Given the description of an element on the screen output the (x, y) to click on. 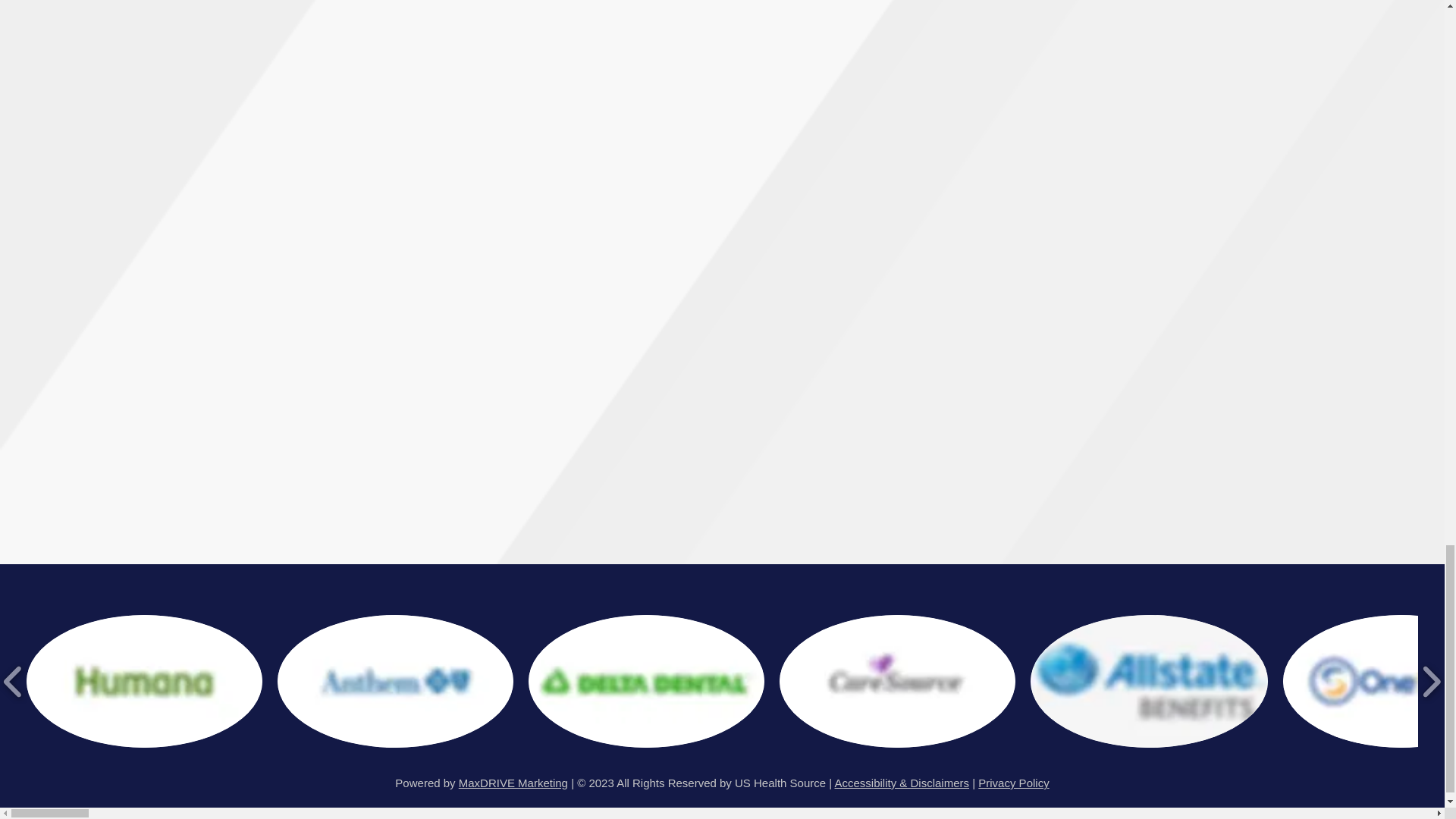
MaxDRIVE Marketing (512, 782)
Privacy Policy (1013, 782)
